Given the description of an element on the screen output the (x, y) to click on. 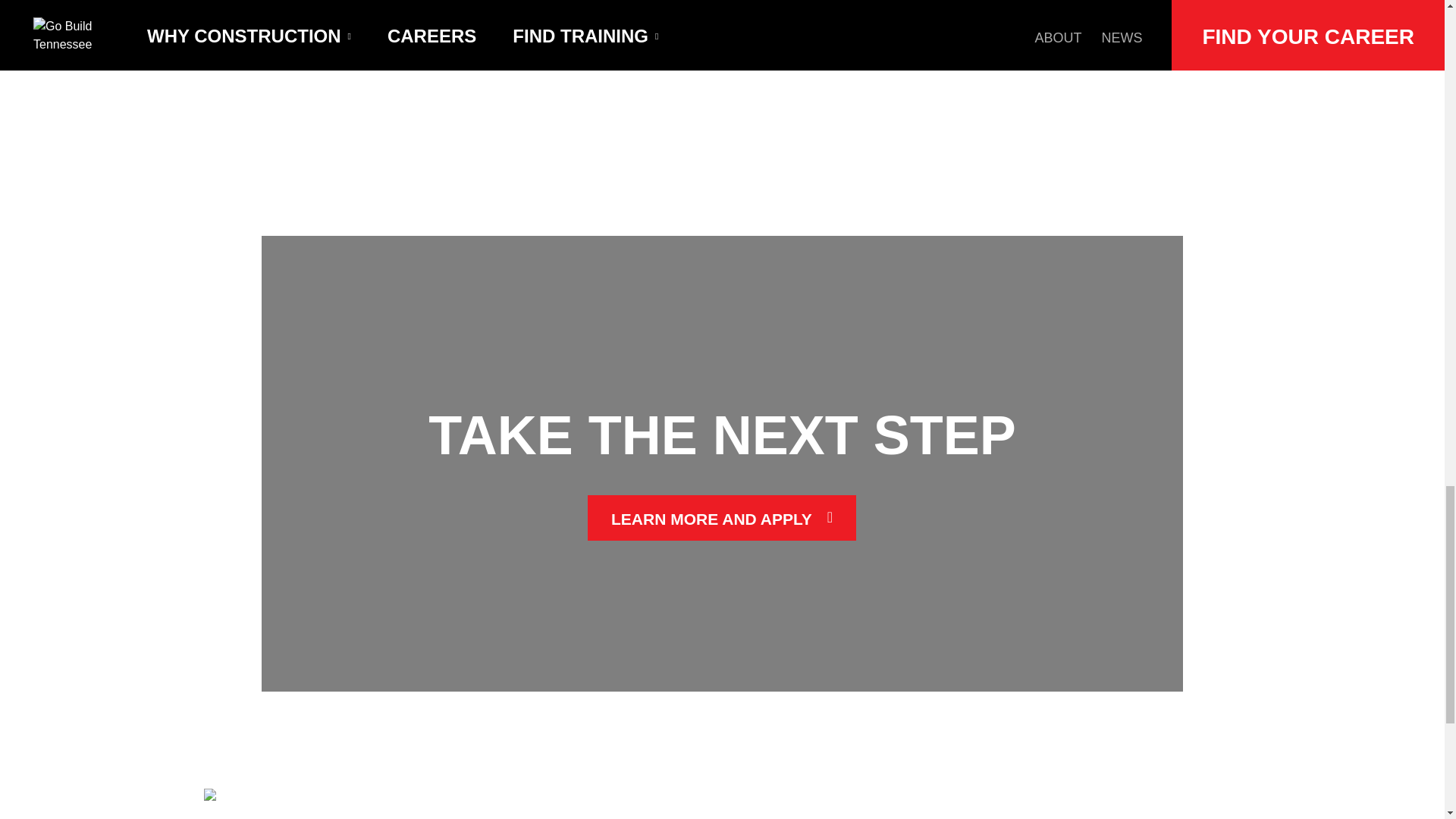
CAREER PATHWAYS TOOL (701, 816)
STUDENTS (395, 816)
Go Build Tennessee (252, 800)
WHY CONSTRUCTION (459, 796)
FIND TRAINING (679, 796)
LEARN MORE AND APPLY (722, 517)
